Given the description of an element on the screen output the (x, y) to click on. 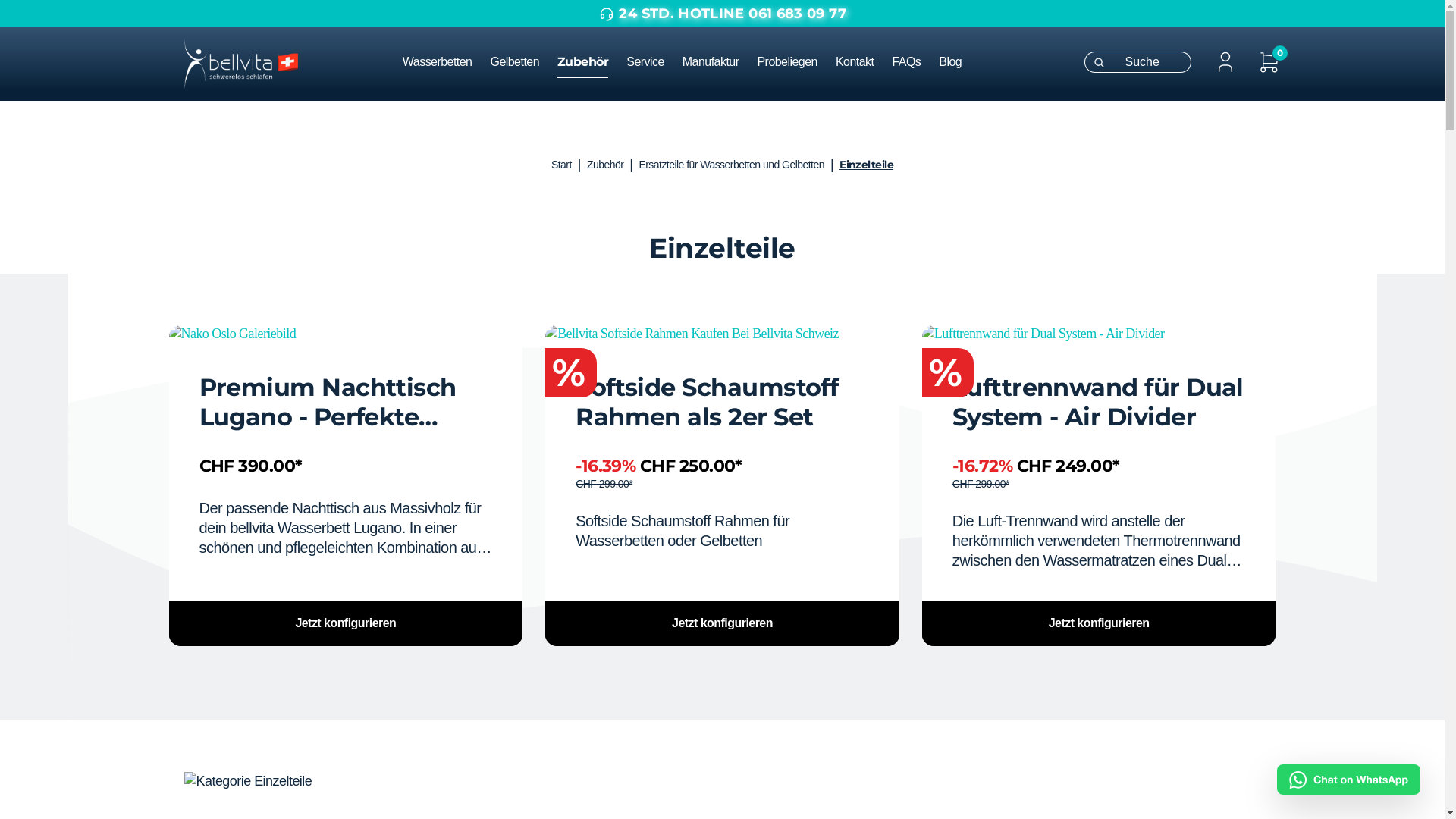
Softside Schaumstoff Rahmen als 2er Set Element type: hover (722, 333)
Jetzt konfigurieren Element type: text (722, 623)
Kontakt Element type: text (863, 62)
Jetzt konfigurieren Element type: text (345, 623)
Manufaktur Element type: text (719, 62)
Kategorie Einzelteile Element type: hover (444, 780)
24 STD. HOTLINE 061 683 09 77 Element type: text (722, 13)
Einzelteile Element type: text (866, 164)
Blog Element type: text (958, 62)
Gelbetten Element type: text (523, 62)
0 Element type: text (1268, 62)
Zur Startseite wechseln Element type: hover (240, 62)
Wasserbetten Element type: text (446, 62)
Start Element type: text (561, 164)
Jetzt konfigurieren Element type: text (1099, 623)
Mein Konto Element type: hover (1224, 62)
FAQs Element type: text (914, 62)
Service Element type: text (654, 62)
Probeliegen Element type: text (795, 62)
